Given the description of an element on the screen output the (x, y) to click on. 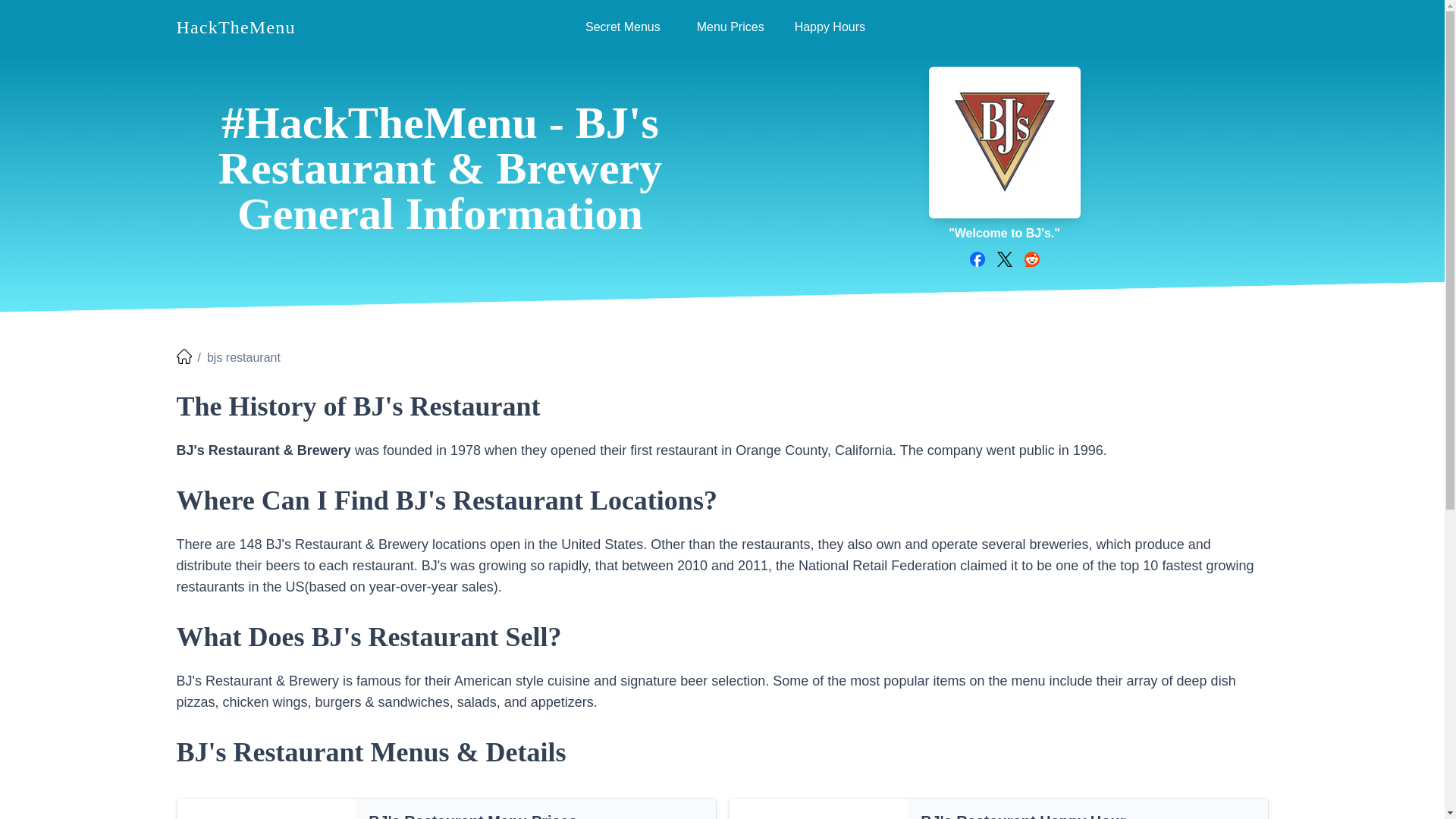
What Does BJ's Restaurant Sell? (722, 636)
HackTheMenu (235, 27)
Happy Hours (830, 27)
Menu Prices (730, 27)
Secret Menus (622, 27)
Main Menu (721, 27)
Where Can I Find BJ's Restaurant Locations? (722, 27)
The History of BJ's Restaurant (722, 500)
Breadcrumbs (722, 406)
